Given the description of an element on the screen output the (x, y) to click on. 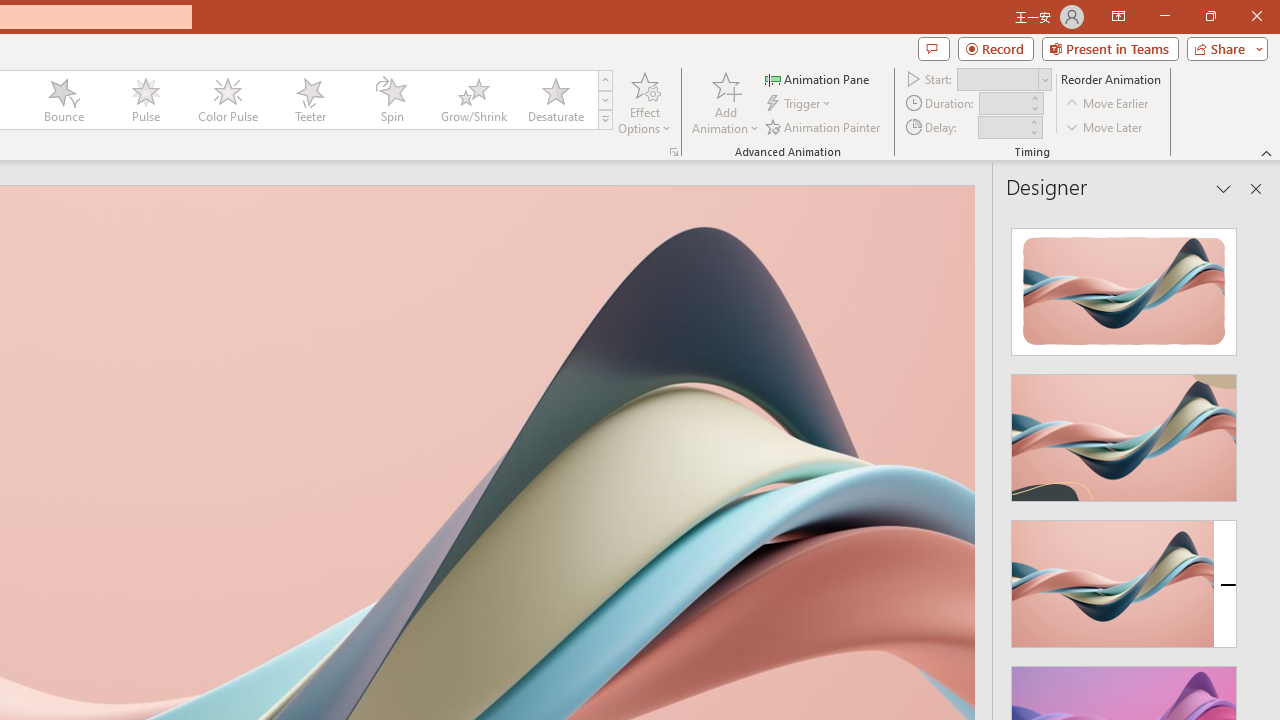
Animation Duration (1003, 103)
Move Later (1105, 126)
Teeter (309, 100)
